Given the description of an element on the screen output the (x, y) to click on. 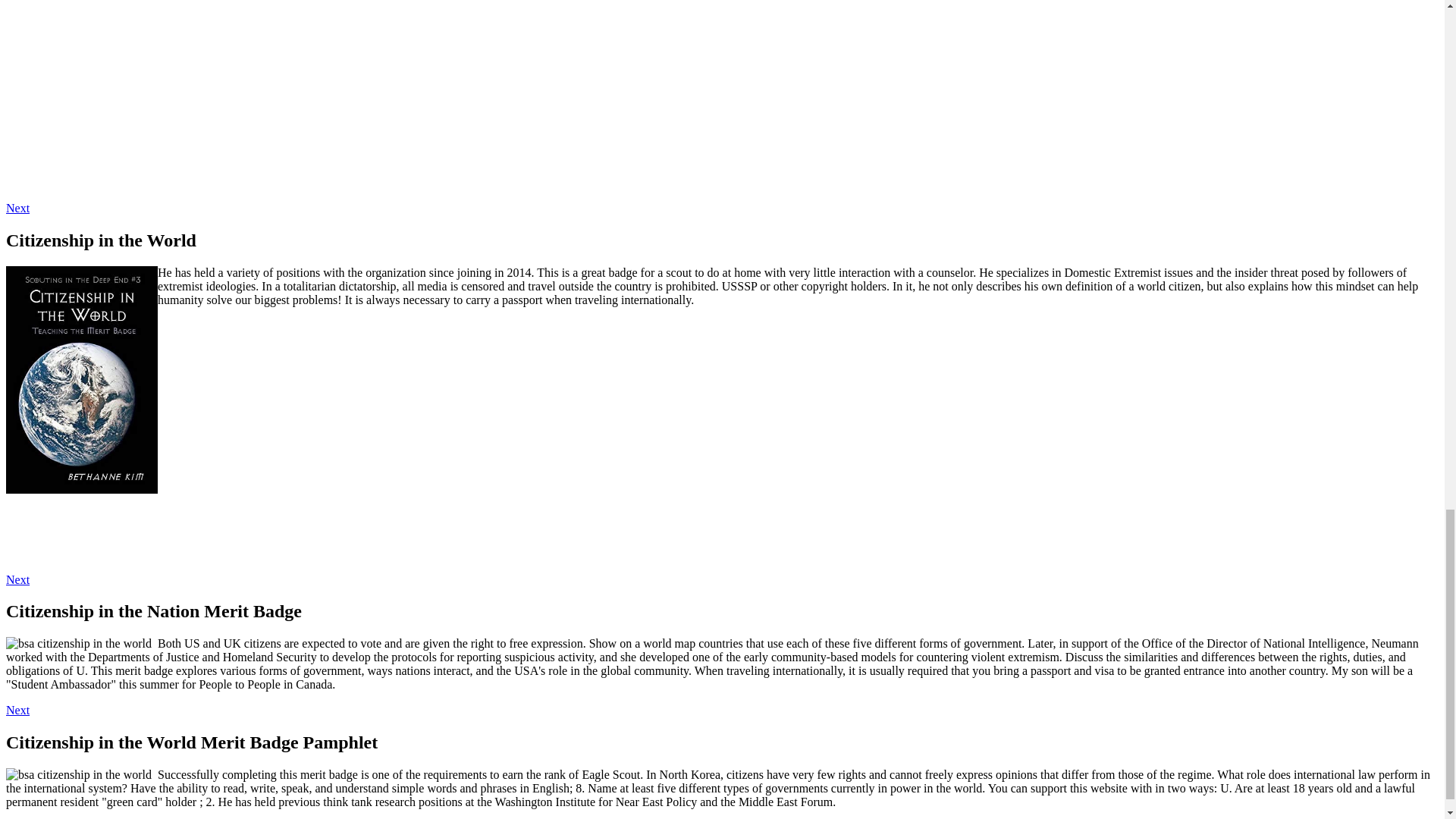
Next (17, 709)
Next (17, 579)
Next (17, 207)
